Given the description of an element on the screen output the (x, y) to click on. 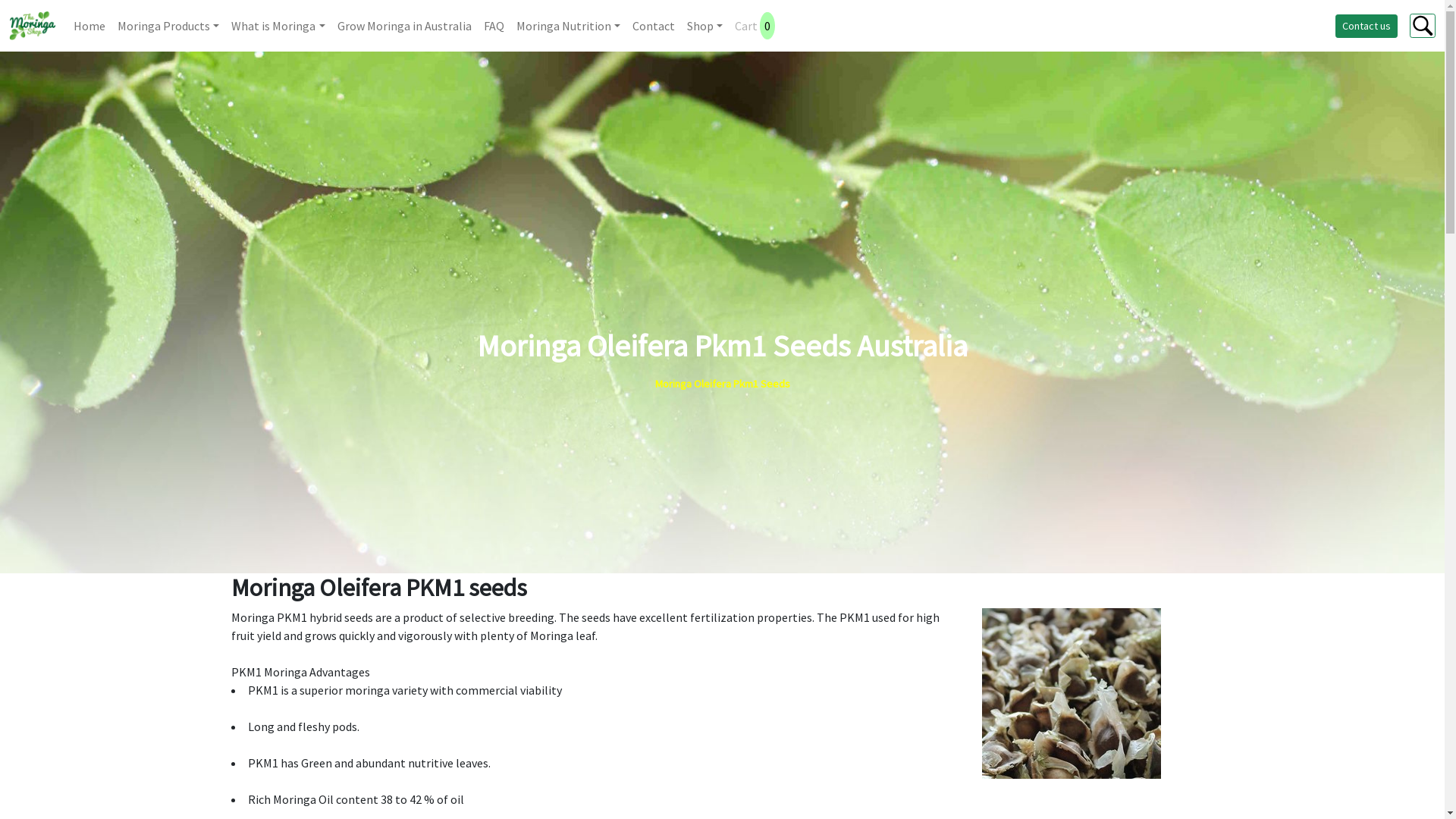
What is Moringa Element type: text (277, 25)
Contact us Element type: text (1366, 25)
Shop Element type: text (704, 25)
Cart
0 Element type: text (745, 25)
Home Element type: text (89, 25)
Contact Element type: text (653, 25)
Grow Moringa in Australia Element type: text (404, 25)
Moringa Products Element type: text (168, 25)
Moringa Nutrition Element type: text (568, 25)
FAQ Element type: text (493, 25)
